Given the description of an element on the screen output the (x, y) to click on. 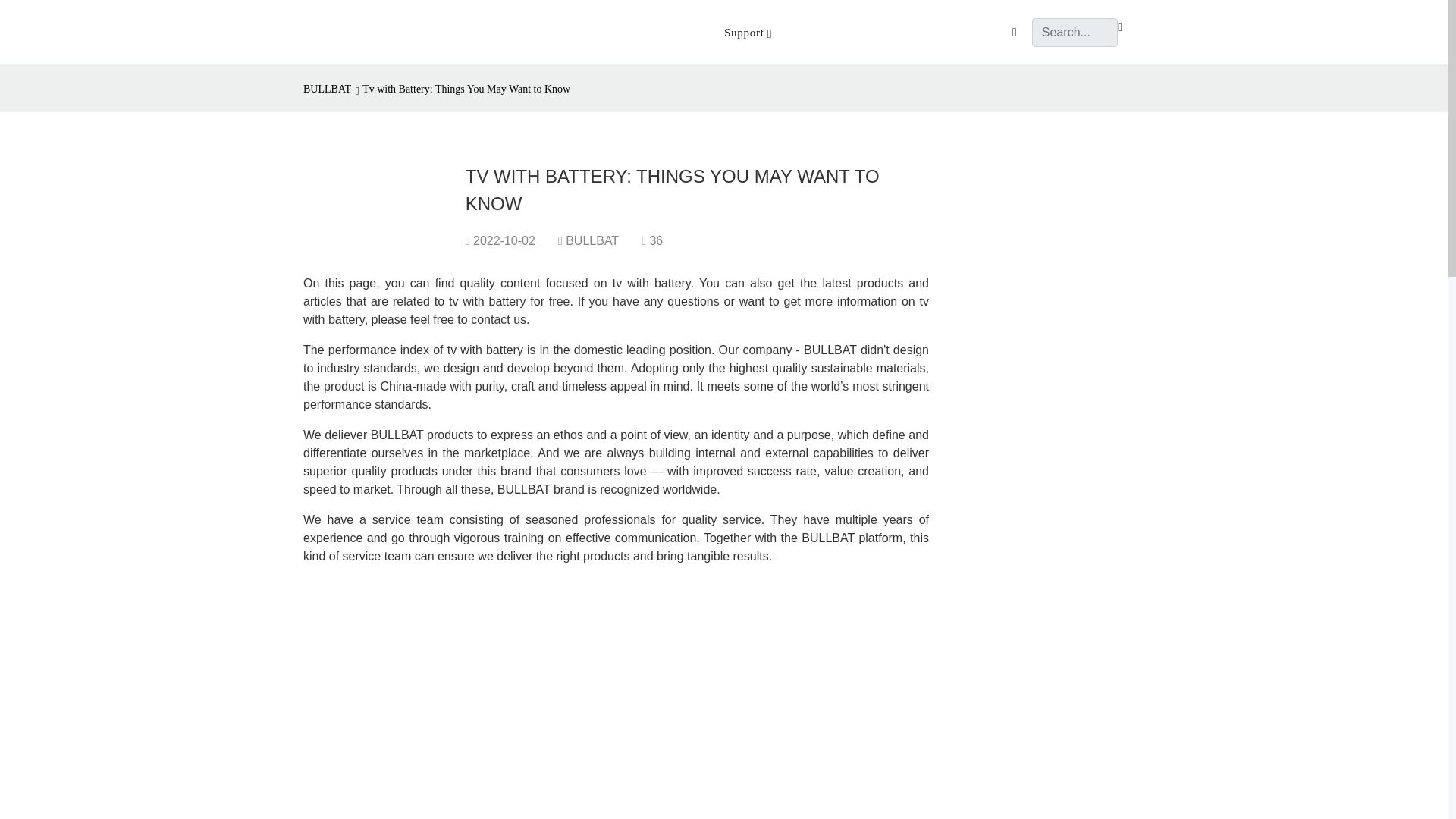
BULLBAT (328, 89)
Tv with Battery: Things You May Want to Know (465, 89)
Support (747, 31)
